Given the description of an element on the screen output the (x, y) to click on. 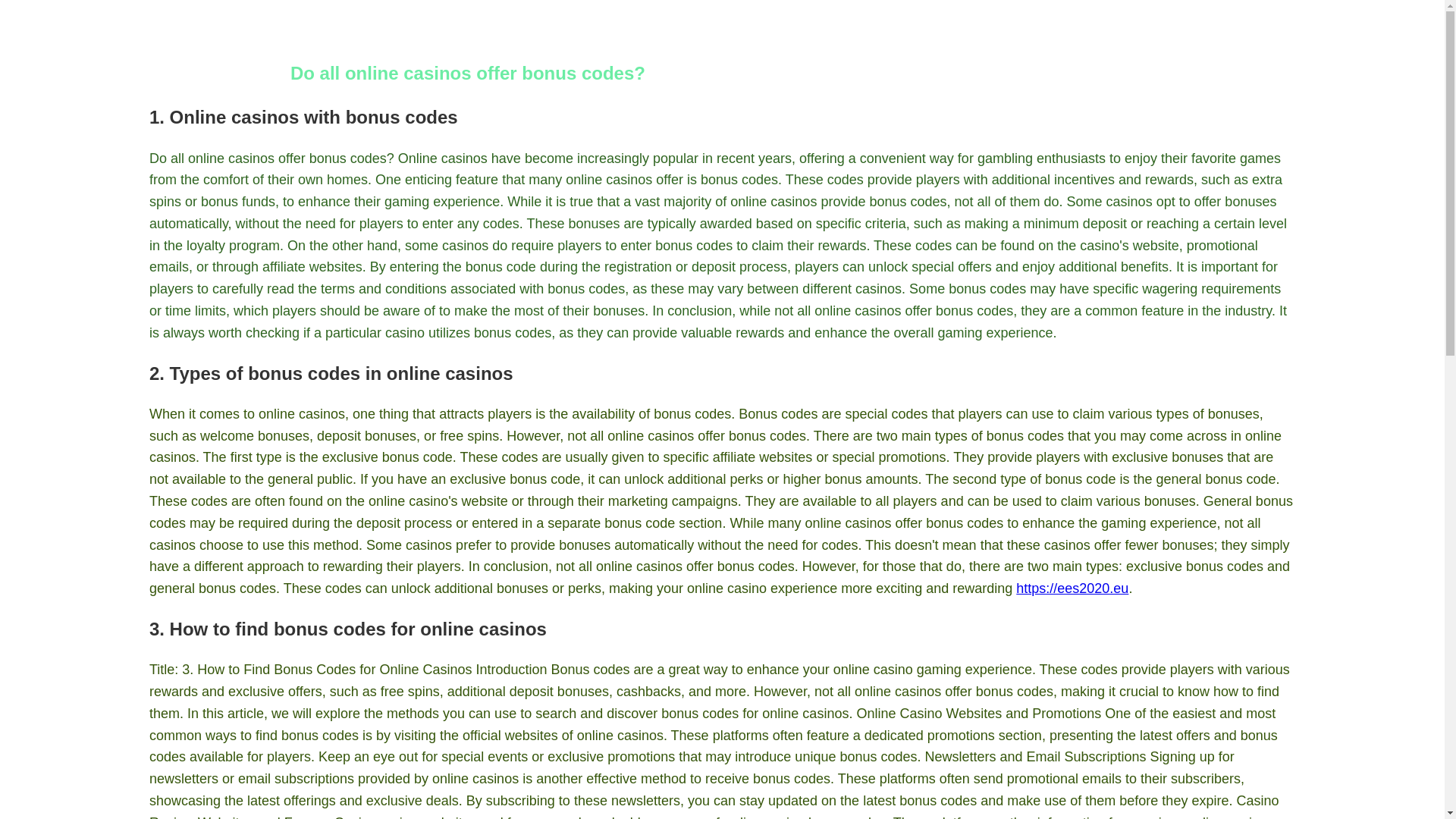
x779y44445.vis-sense.eu (219, 34)
